Given the description of an element on the screen output the (x, y) to click on. 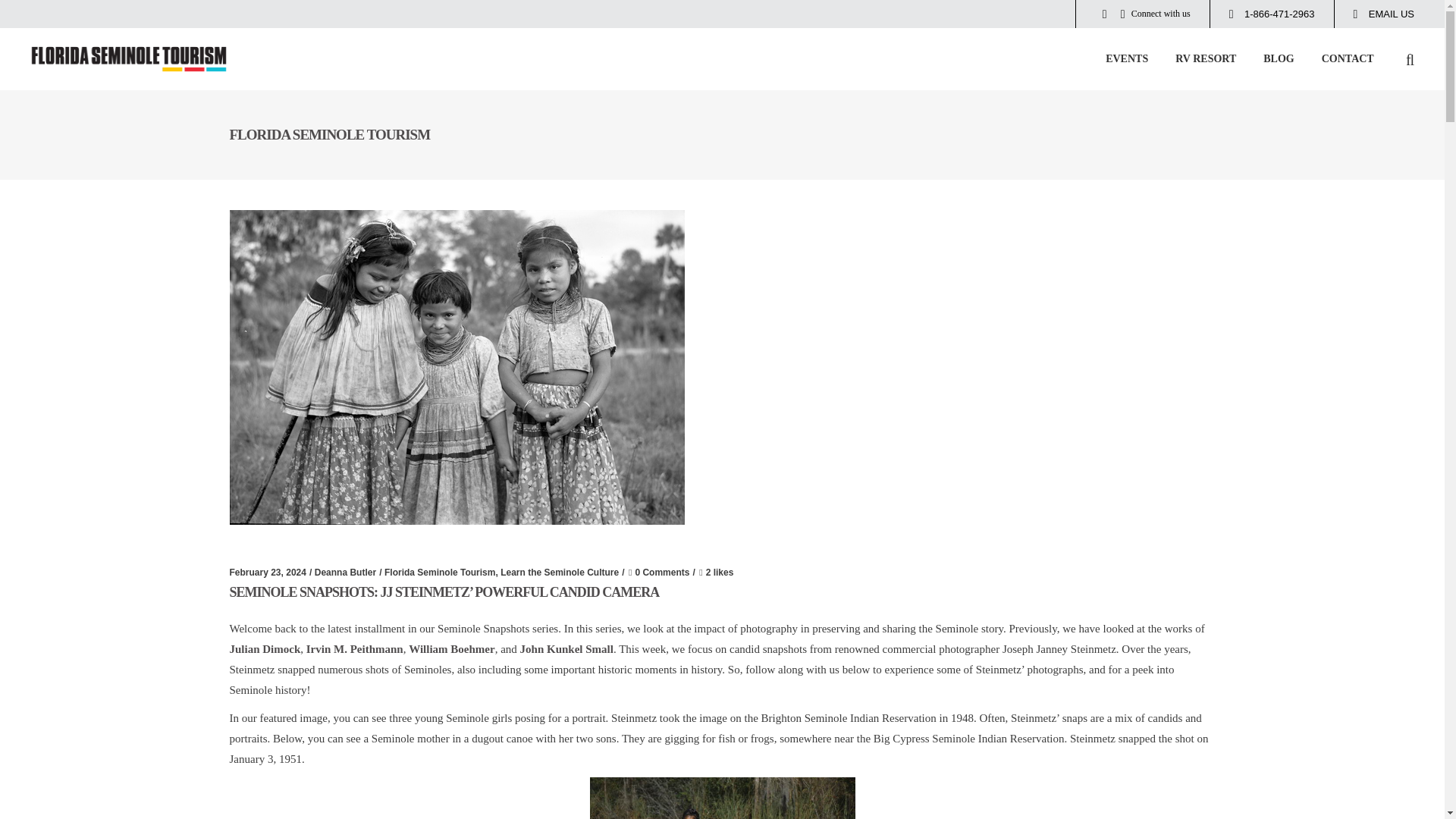
Like this (715, 572)
February 23, 2024 (266, 572)
William Boehmer (452, 648)
CONTACT (1347, 58)
Irvin M. Peithmann (354, 648)
Florida Seminole Tourism (439, 572)
RV RESORT (1205, 58)
0 Comments (657, 572)
1-866-471-2963 (1271, 13)
2 likes (715, 572)
